Given the description of an element on the screen output the (x, y) to click on. 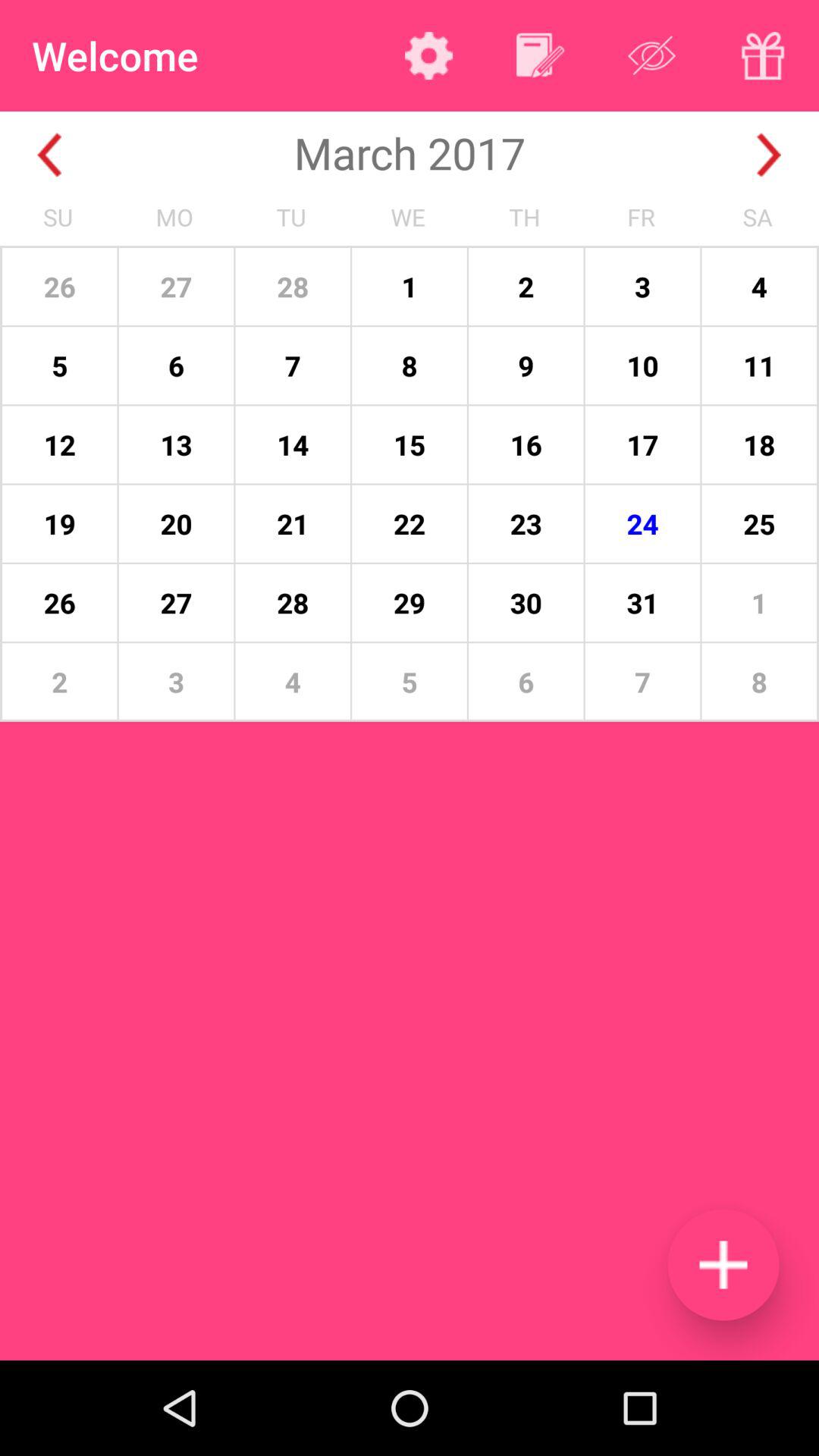
go do next (769, 155)
